Given the description of an element on the screen output the (x, y) to click on. 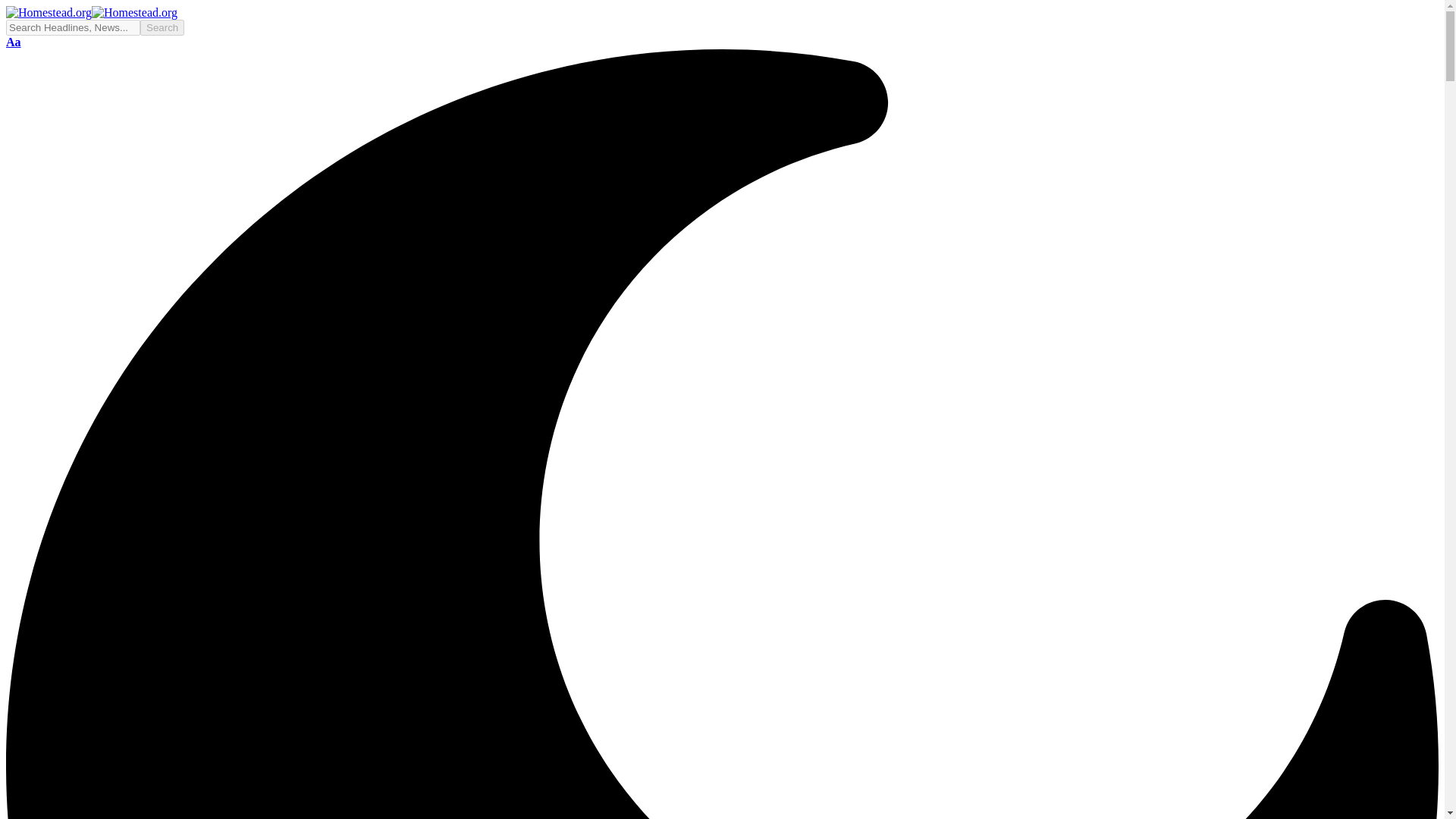
Search (13, 42)
Search (161, 27)
Homestead.org (161, 27)
